Given the description of an element on the screen output the (x, y) to click on. 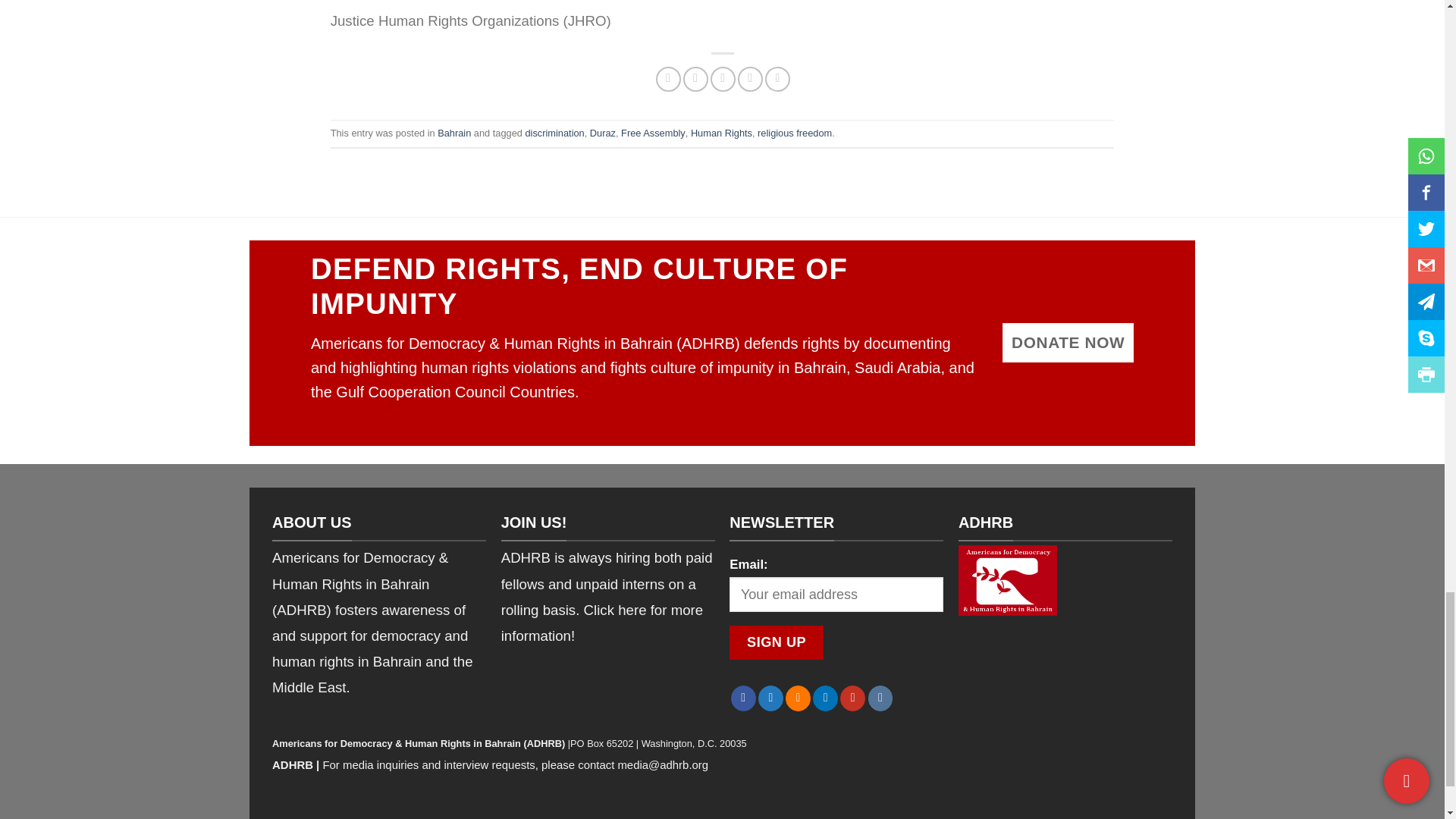
Follow on YouTube (852, 698)
Subscribe to RSS (798, 698)
Share on Twitter (694, 78)
Follow on VKontakte (879, 698)
Share on LinkedIn (777, 78)
Sign up (776, 642)
Pin on Pinterest (750, 78)
Share on Facebook (668, 78)
Follow on Facebook (742, 698)
Email to a Friend (722, 78)
Follow on LinkedIn (825, 698)
Follow on Twitter (770, 698)
